Given the description of an element on the screen output the (x, y) to click on. 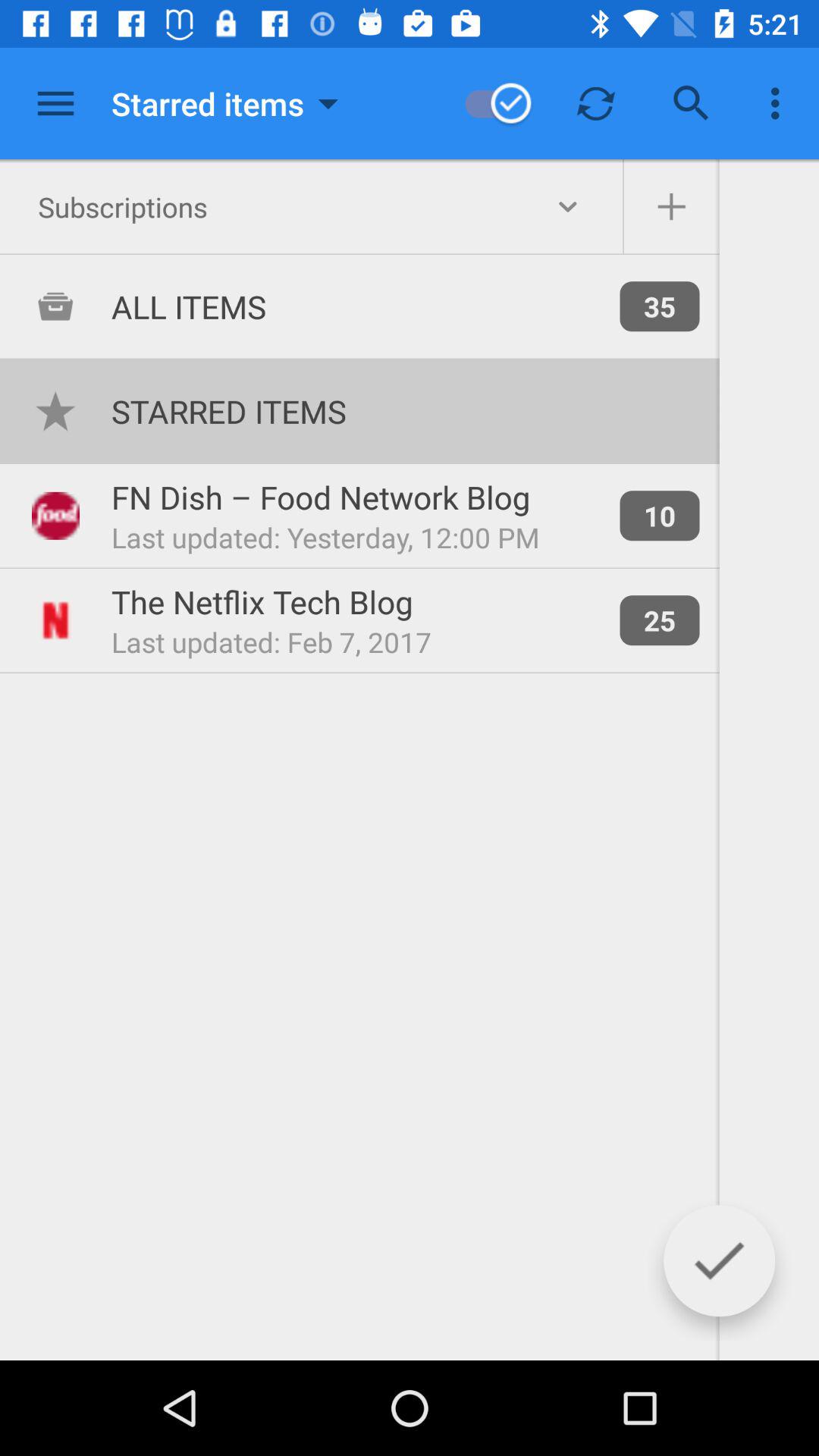
go to menu (55, 103)
